Given the description of an element on the screen output the (x, y) to click on. 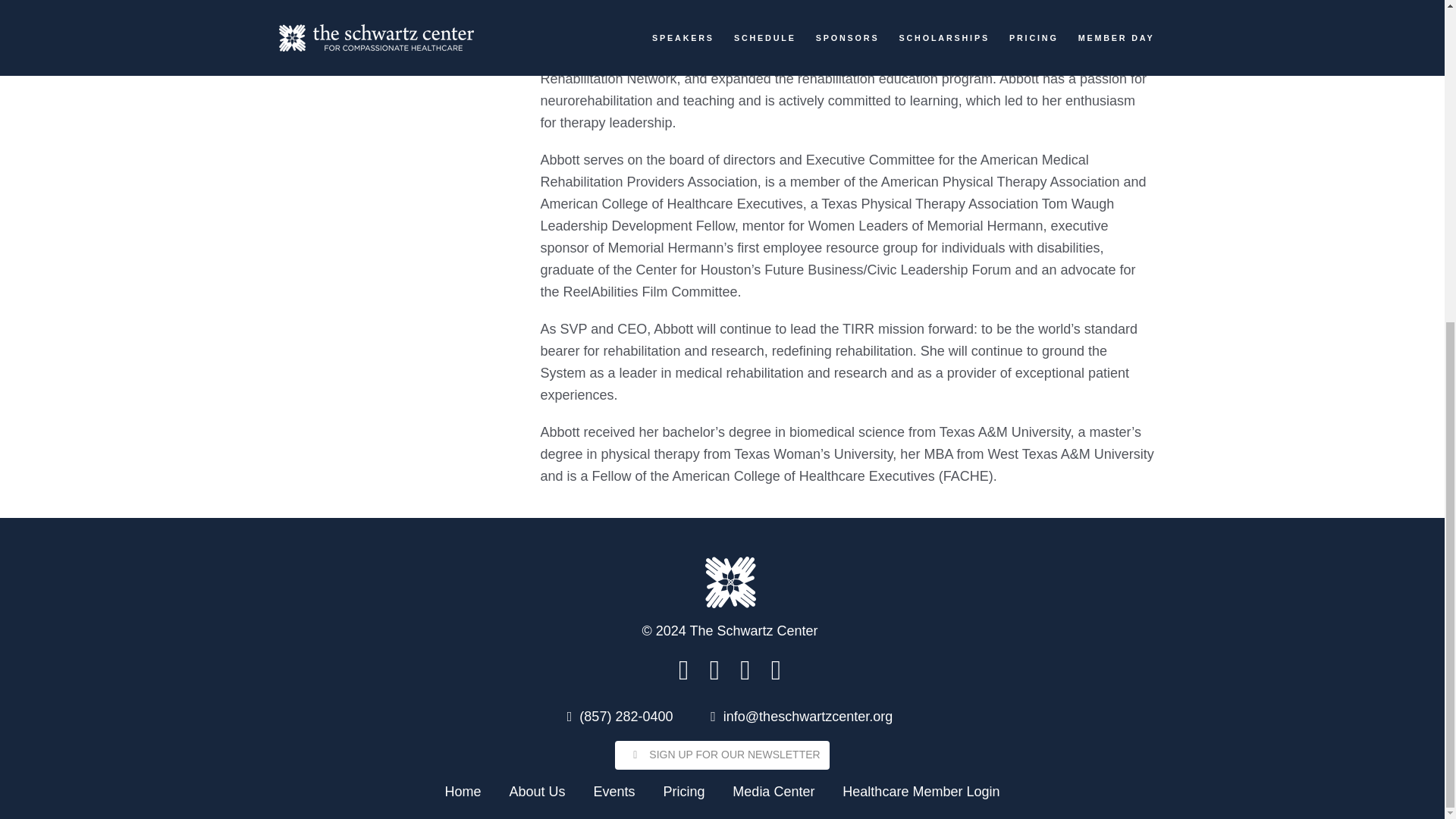
Media Center (772, 790)
Pricing (683, 790)
About Us (536, 790)
Healthcare Member Login (920, 790)
SIGN UP FOR OUR NEWSLETTER (721, 755)
Home (463, 790)
Events (613, 790)
